Given the description of an element on the screen output the (x, y) to click on. 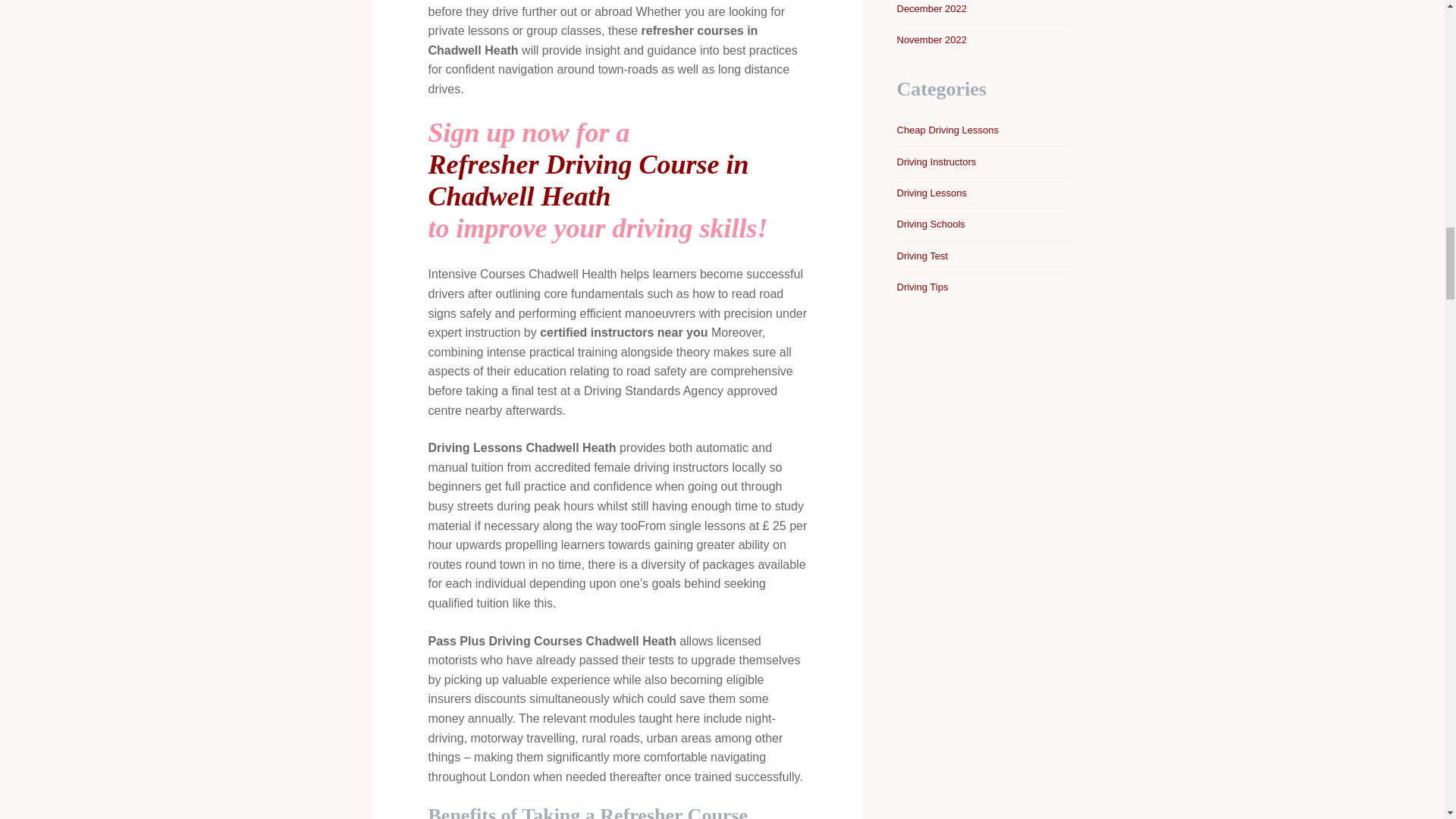
Refresher Driving Course in Chadwell Heath (617, 180)
